Given the description of an element on the screen output the (x, y) to click on. 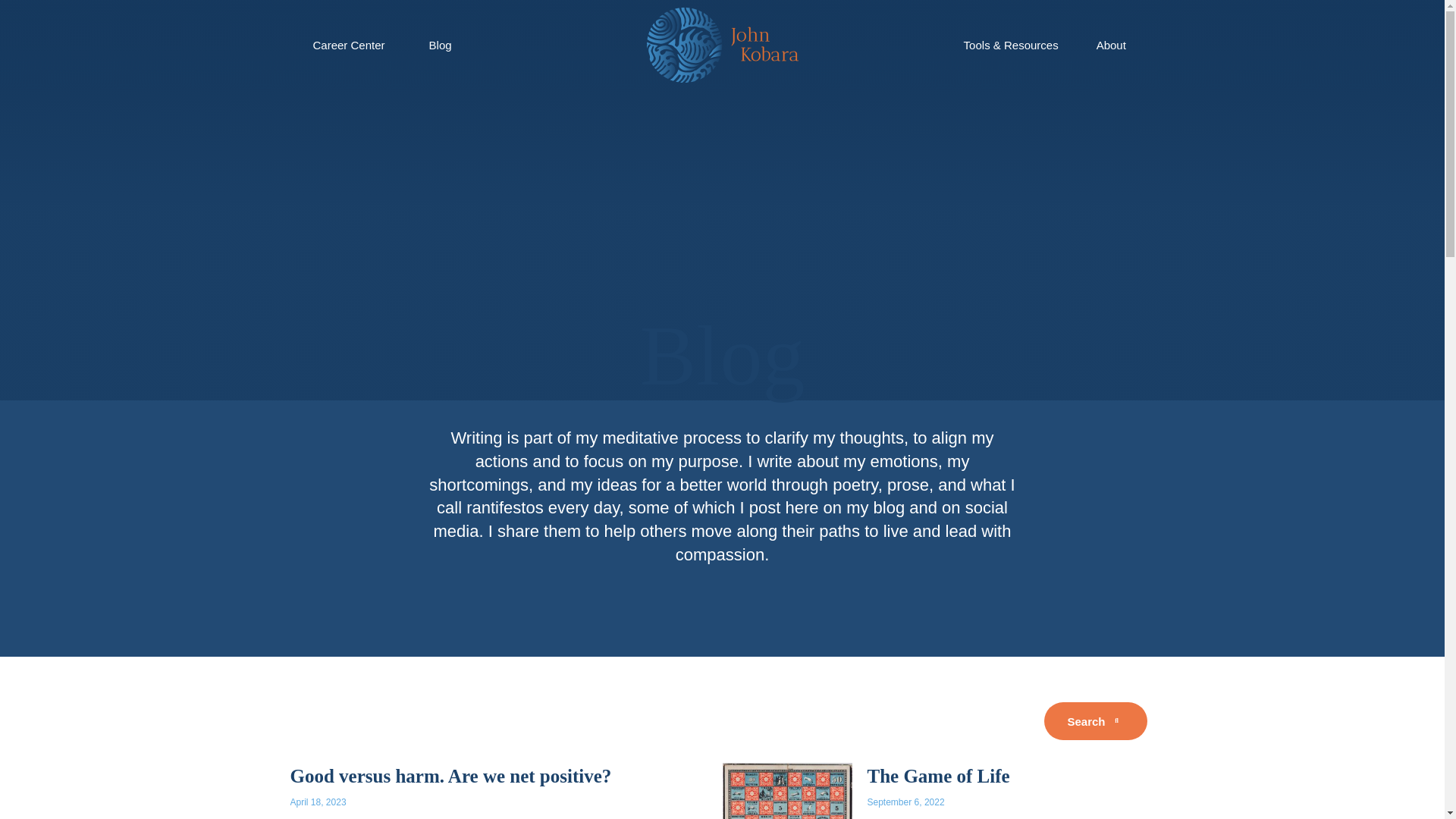
Blog (440, 45)
About (1111, 45)
Career Center (347, 45)
